Given the description of an element on the screen output the (x, y) to click on. 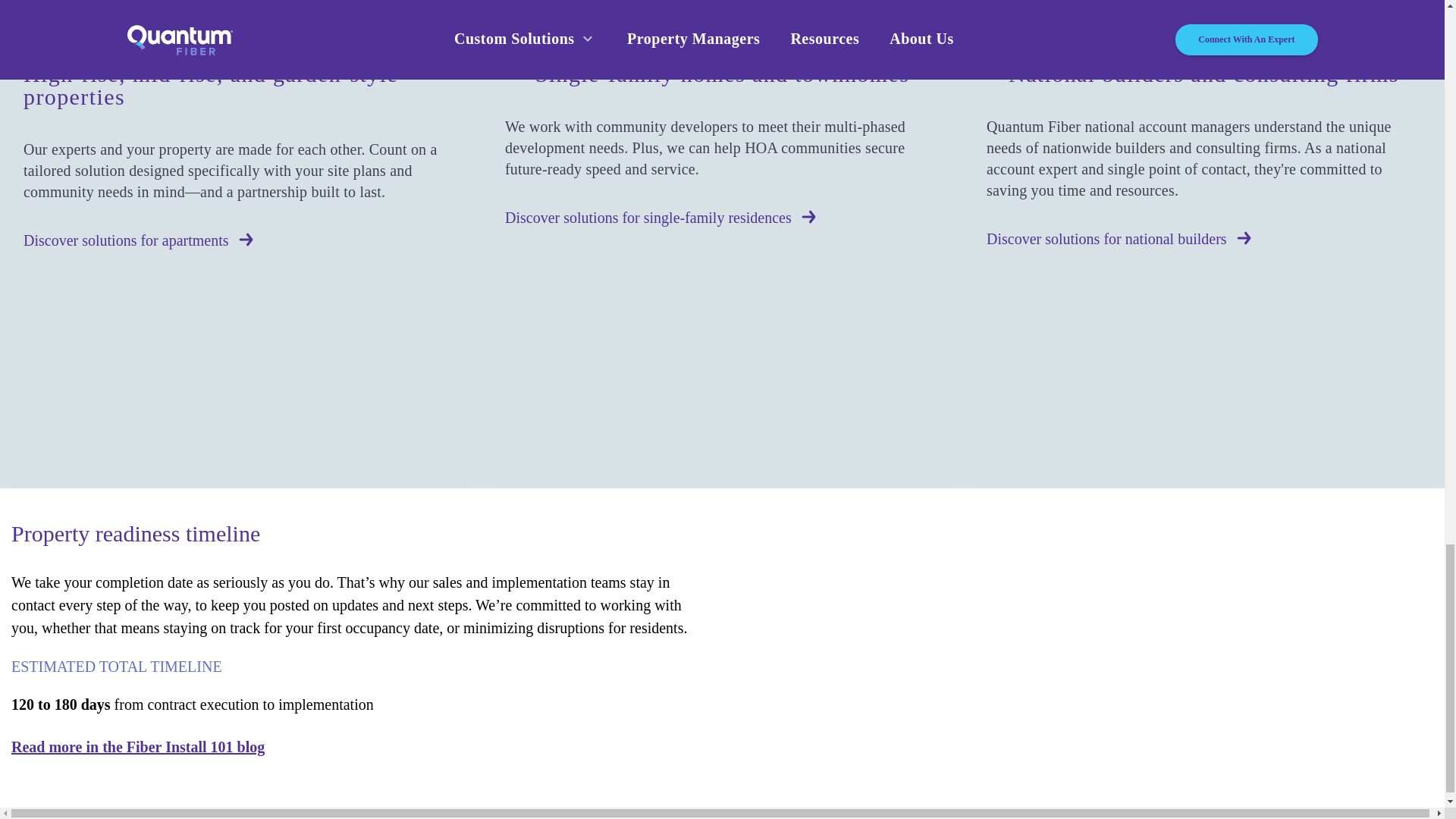
Discover solutions for single-family residences (722, 218)
Discover solutions for national builders (1204, 239)
Read more in the Fiber Install 101 blog (137, 746)
apartments (59, 45)
Discover solutions for apartments (240, 240)
single family (544, 45)
